Given the description of an element on the screen output the (x, y) to click on. 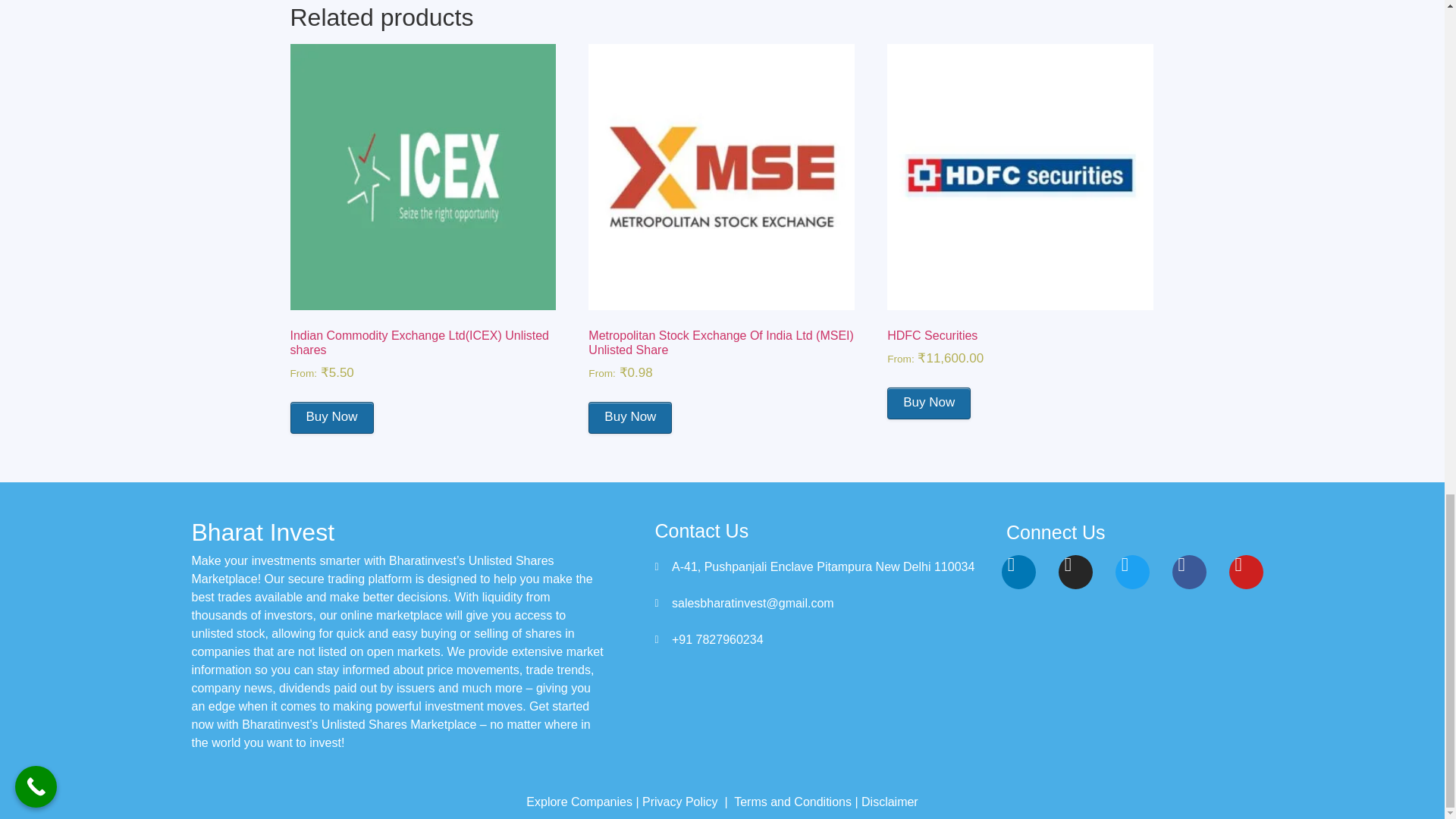
Buy Now (330, 418)
Minimum qty is 200000 (629, 418)
Minimum qty is 2 (928, 403)
Minimum qty is 10000 (330, 418)
Buy Now (928, 403)
Buy Now (629, 418)
